Given the description of an element on the screen output the (x, y) to click on. 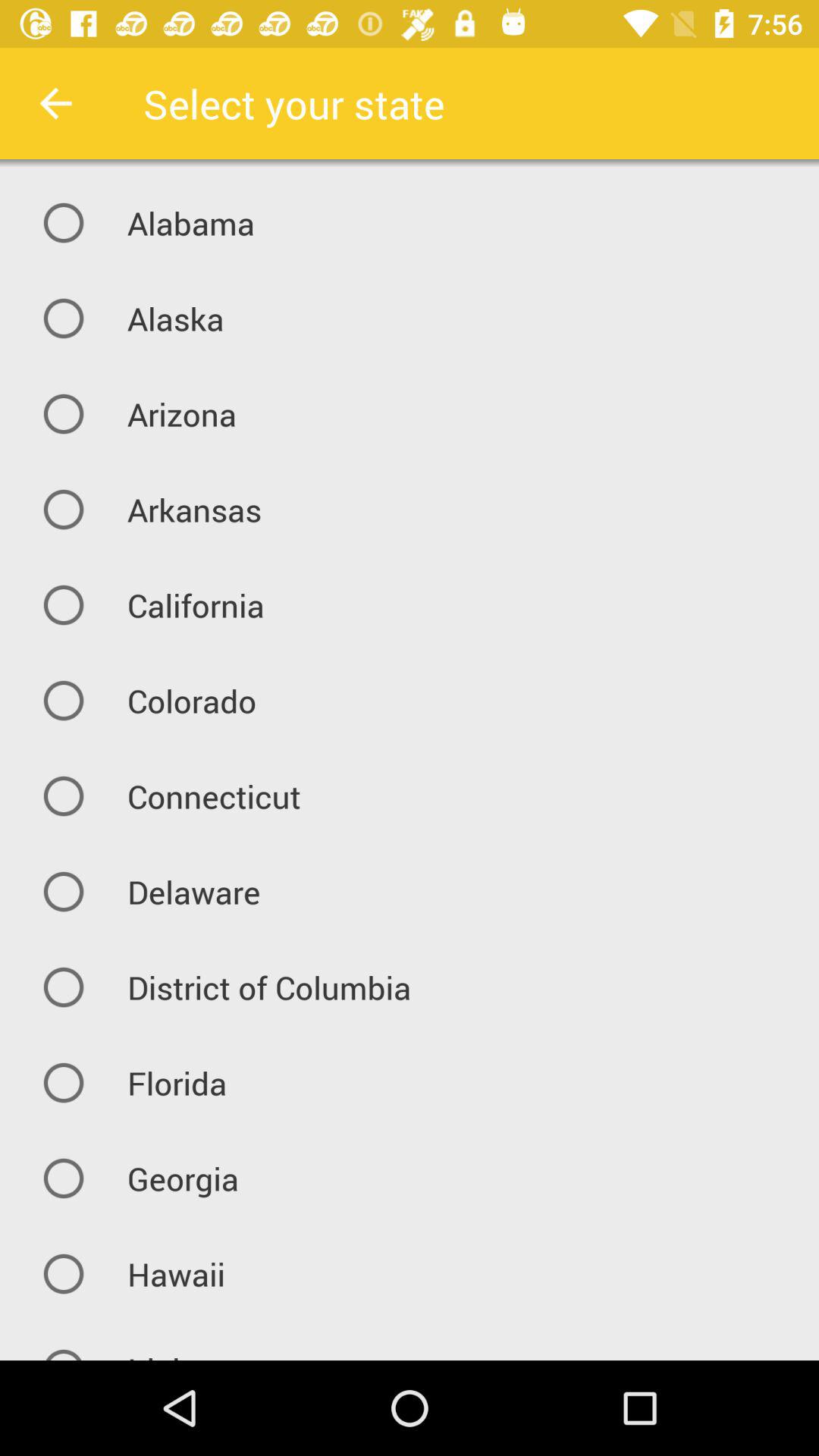
choose icon next to the select your state icon (55, 103)
